Given the description of an element on the screen output the (x, y) to click on. 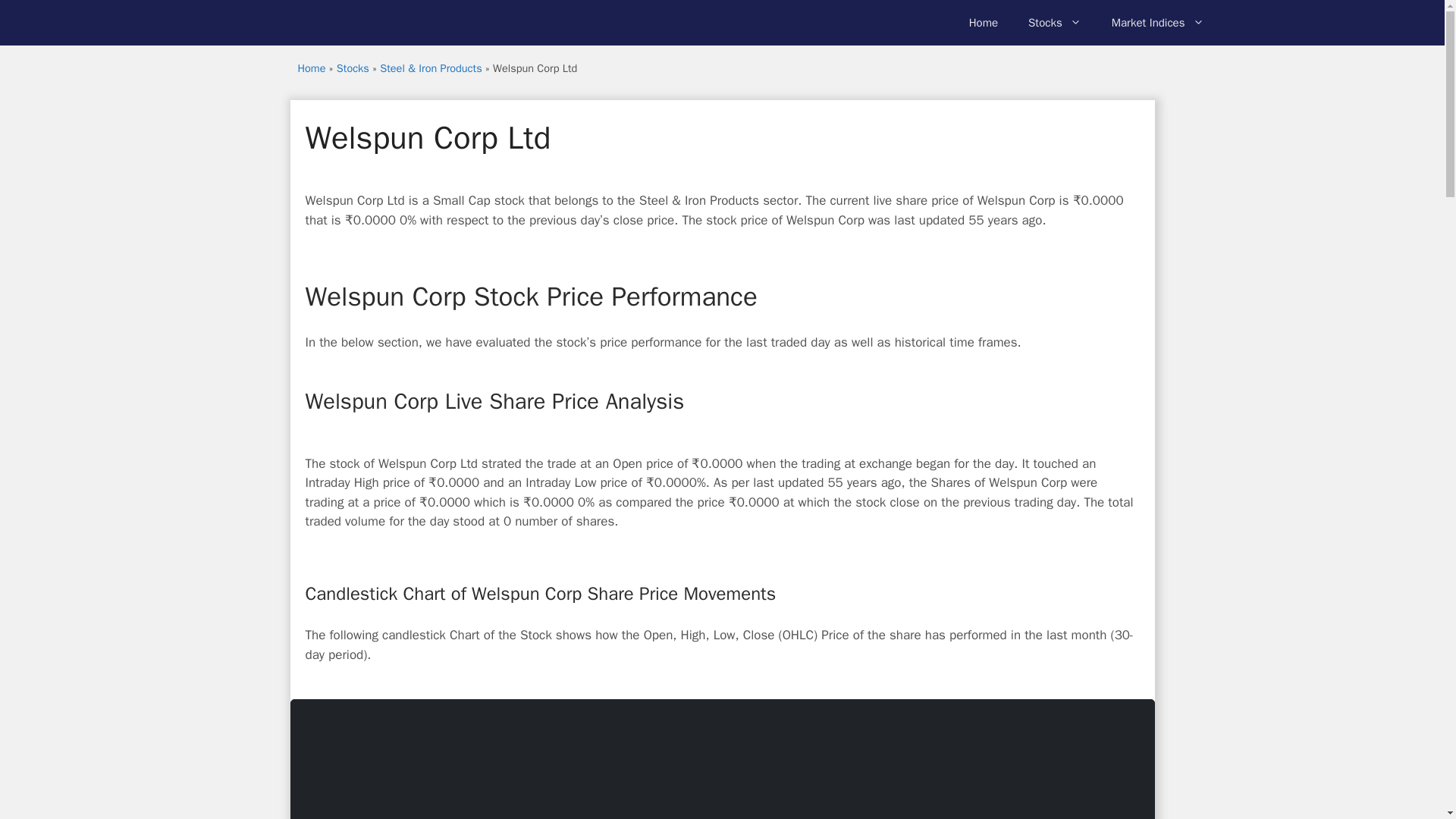
Home (983, 22)
Stocks (1054, 22)
Market Indices (1158, 22)
